Given the description of an element on the screen output the (x, y) to click on. 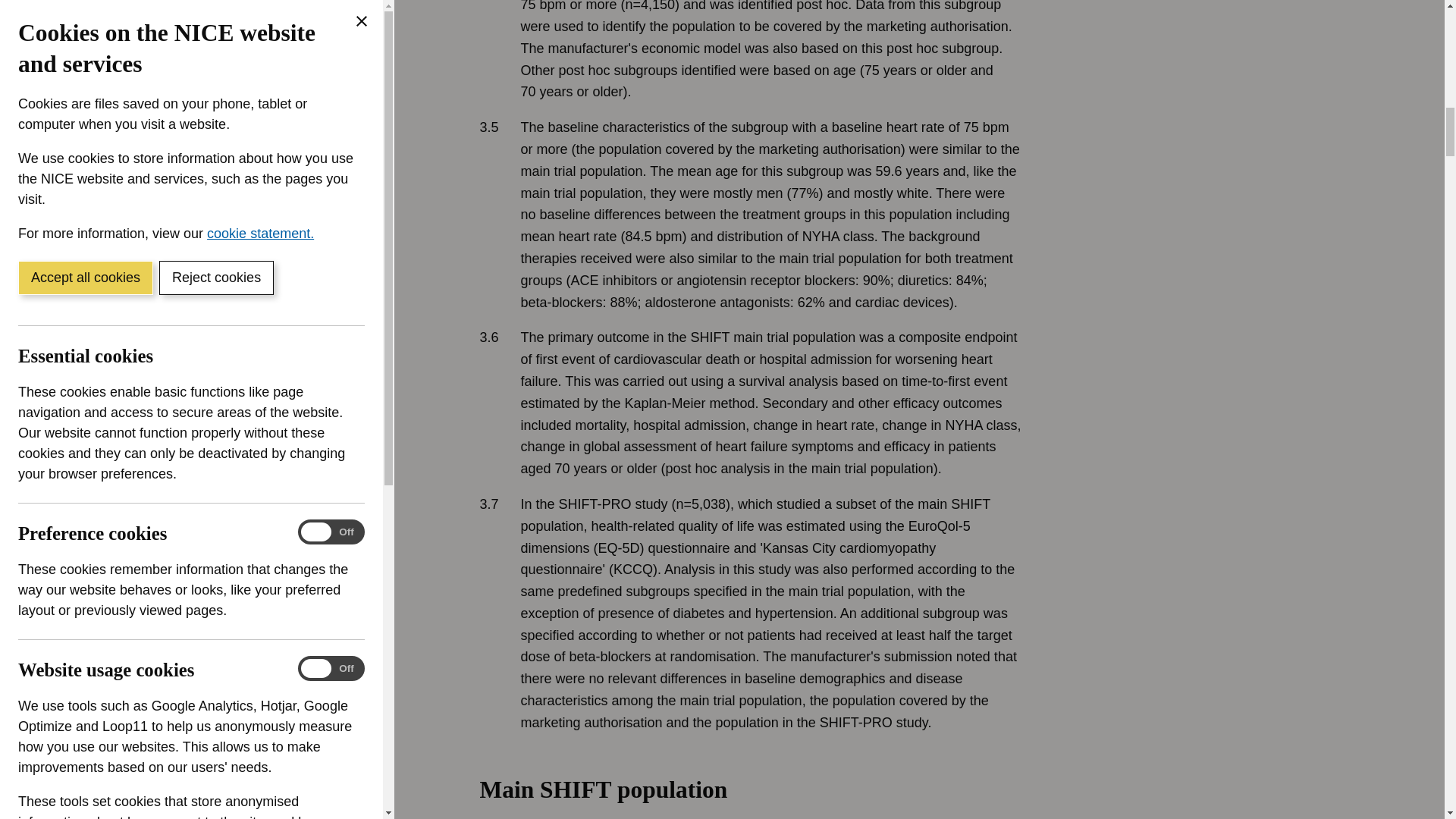
Main SHIFT population (850, 796)
